Given the description of an element on the screen output the (x, y) to click on. 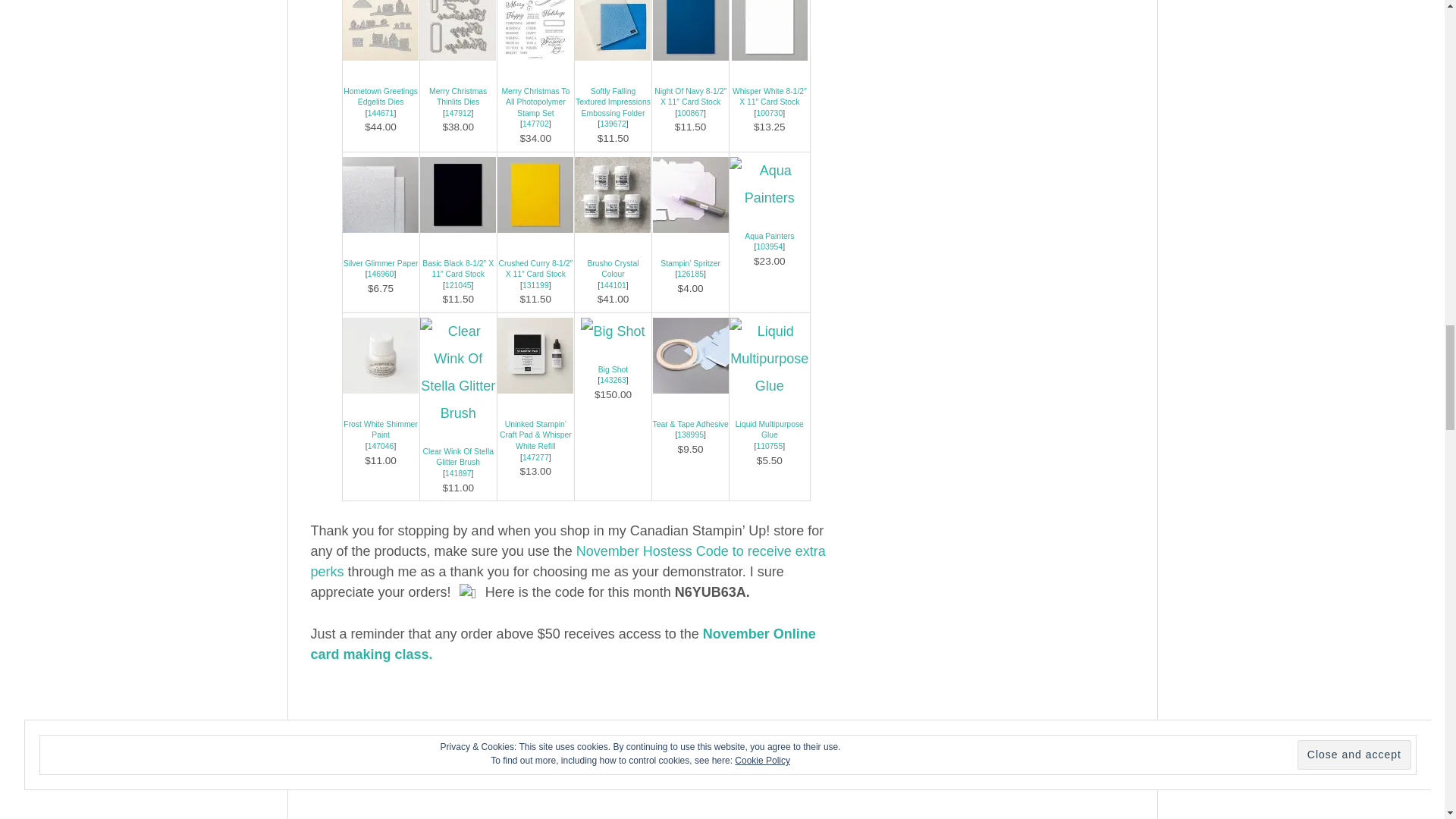
Merry Christmas Thinlits Dies (457, 96)
Merry Christmas Thinlits Dies (458, 112)
Silver Glimmer Paper (381, 263)
121045 (458, 285)
144101 (612, 285)
131199 (535, 285)
Merry Christmas To All Photopolymer Stamp Set (534, 101)
Hometown Greetings Edgelits Dies (380, 96)
147912 (458, 112)
Hometown Greetings Edgelits Dies (380, 96)
139672 (612, 123)
Brusho Crystal Colour (612, 269)
147702 (535, 123)
126185 (690, 274)
146960 (381, 274)
